Given the description of an element on the screen output the (x, y) to click on. 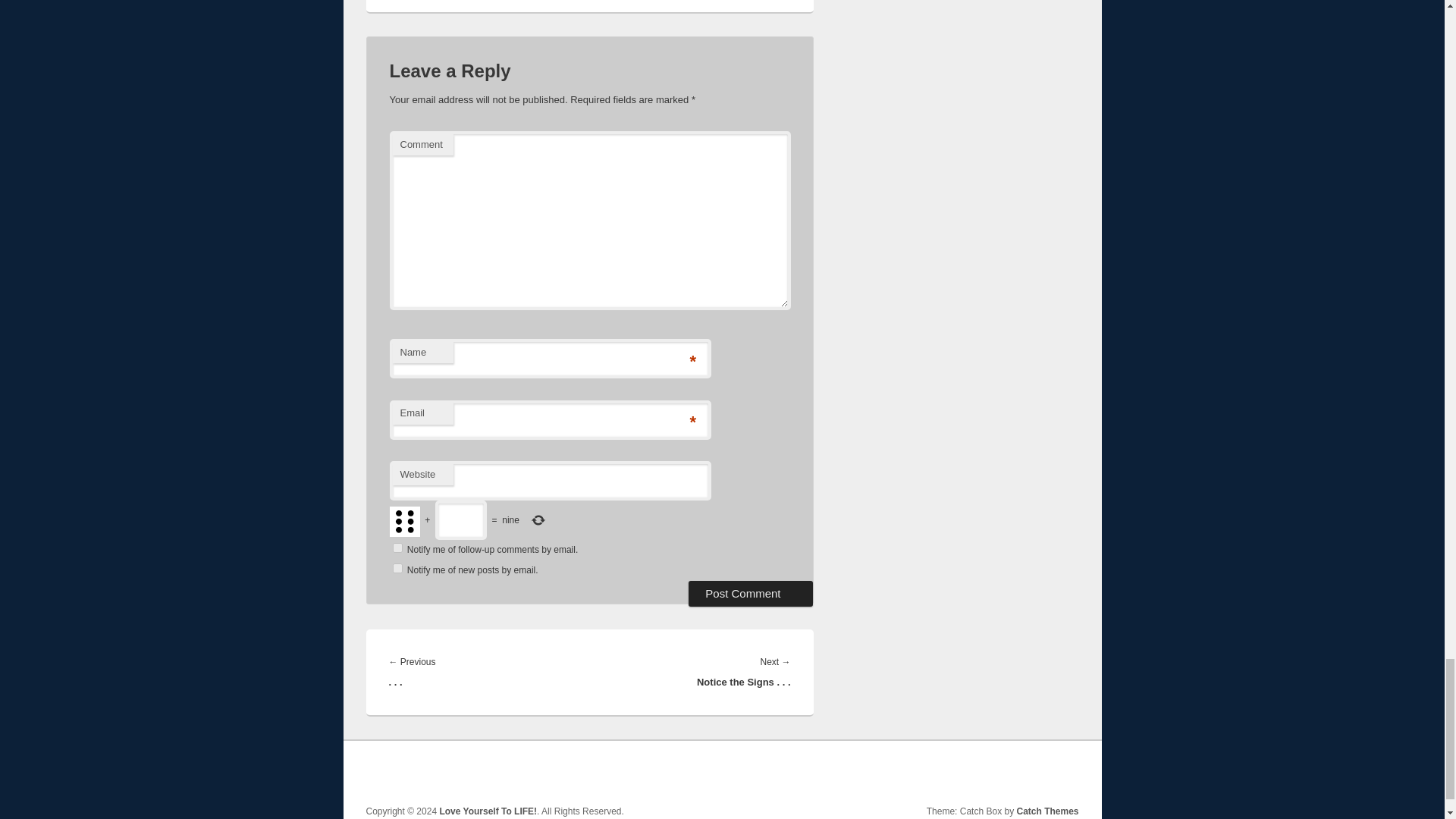
Love Yourself To LIFE! (488, 810)
subscribe (398, 547)
Catch Themes (1047, 810)
Post Comment (750, 593)
subscribe (398, 568)
Post Comment (750, 593)
